Given the description of an element on the screen output the (x, y) to click on. 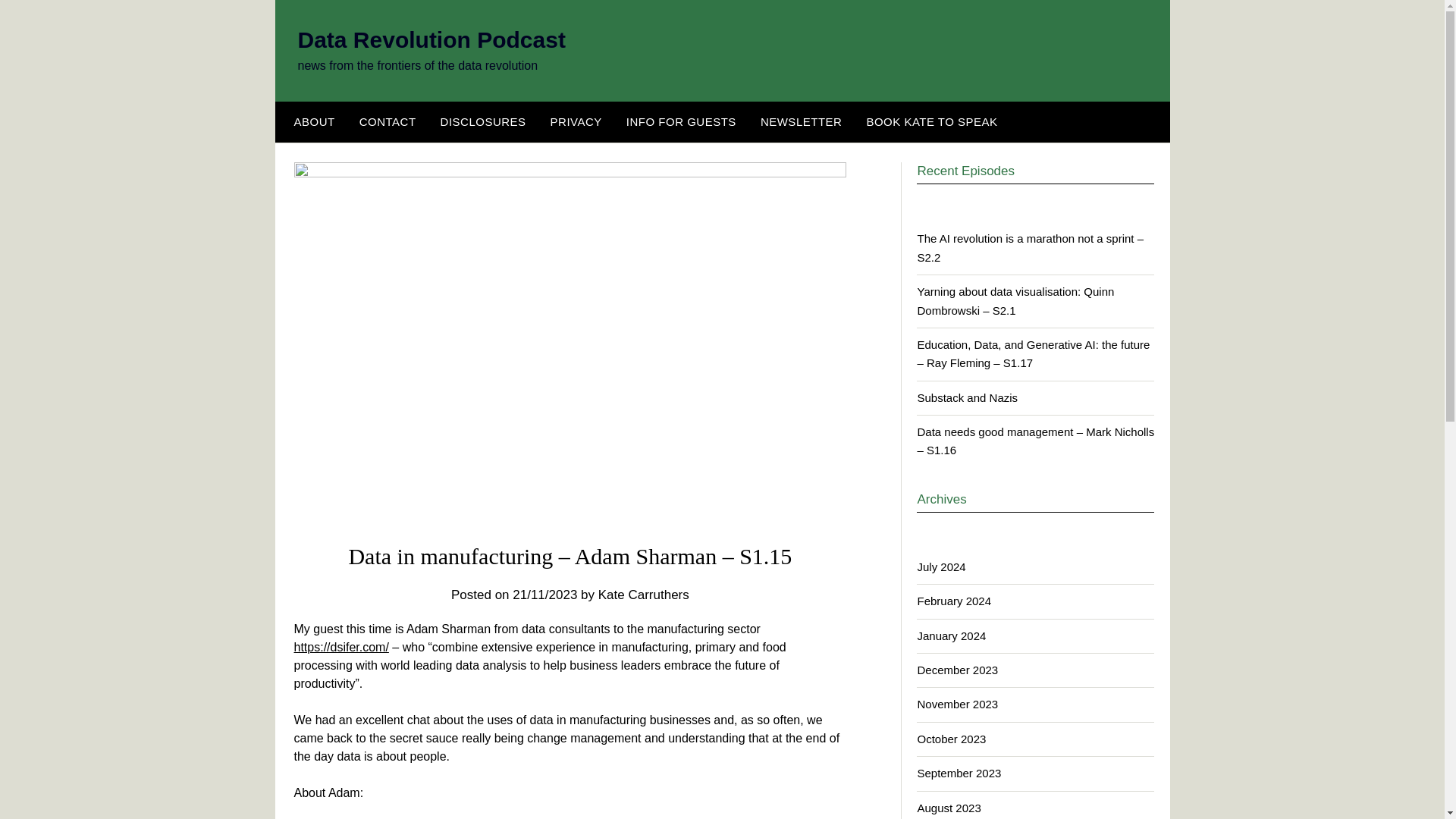
Data Revolution Podcast (430, 39)
December 2023 (957, 669)
January 2024 (951, 635)
BOOK KATE TO SPEAK (931, 121)
October 2023 (951, 738)
PRIVACY (576, 121)
July 2024 (941, 566)
INFO FOR GUESTS (681, 121)
NEWSLETTER (801, 121)
Kate Carruthers (643, 594)
